Given the description of an element on the screen output the (x, y) to click on. 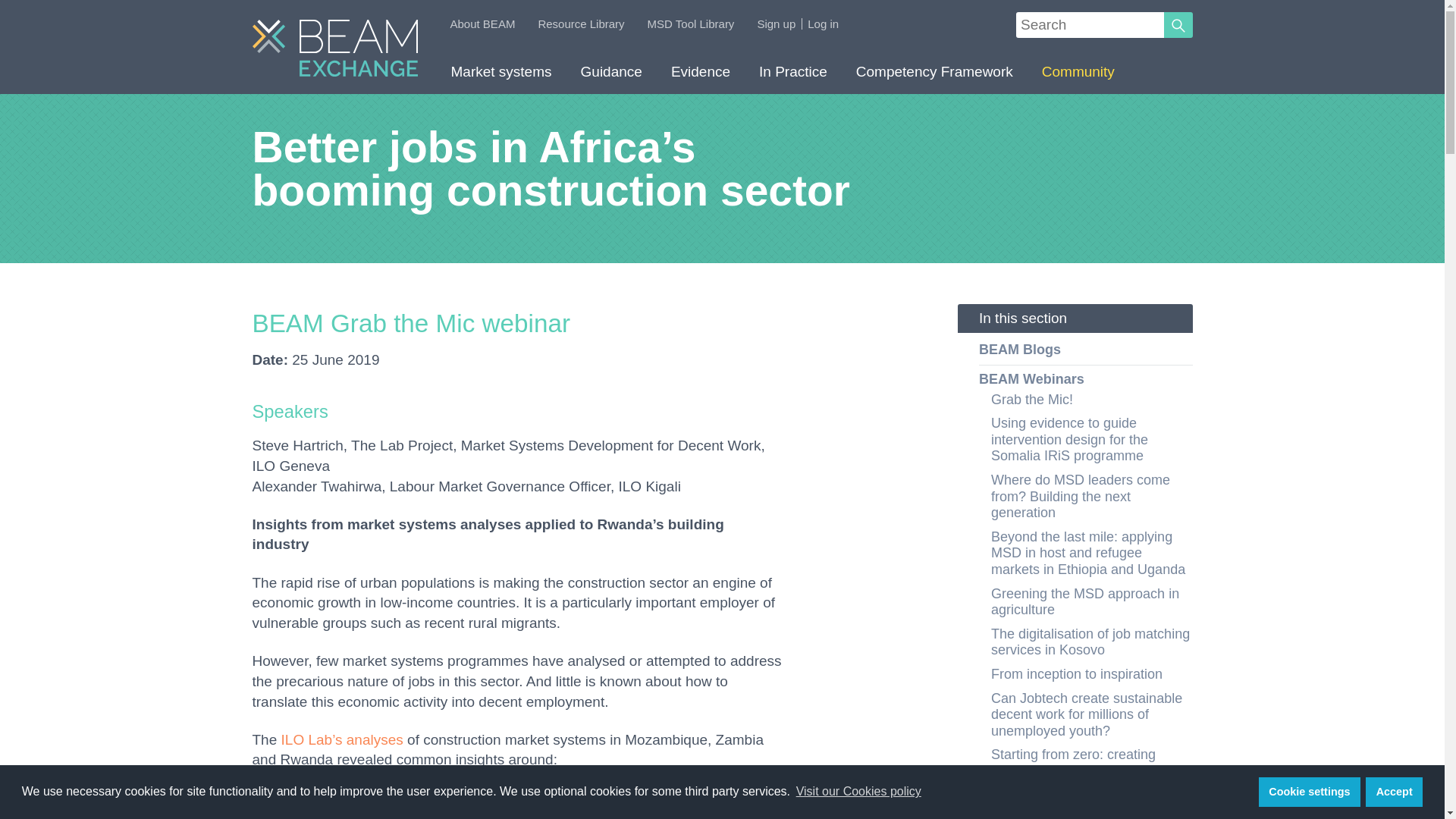
Competency Framework (934, 76)
Evidence (700, 76)
In Practice (792, 76)
Guidance (611, 76)
MSD Tool Library (691, 23)
Visit our Cookies policy (858, 791)
Cookie settings (1309, 791)
Market systems (501, 76)
Log in (823, 23)
Sign up (775, 23)
Resource Library (580, 23)
About BEAM (482, 23)
